Given the description of an element on the screen output the (x, y) to click on. 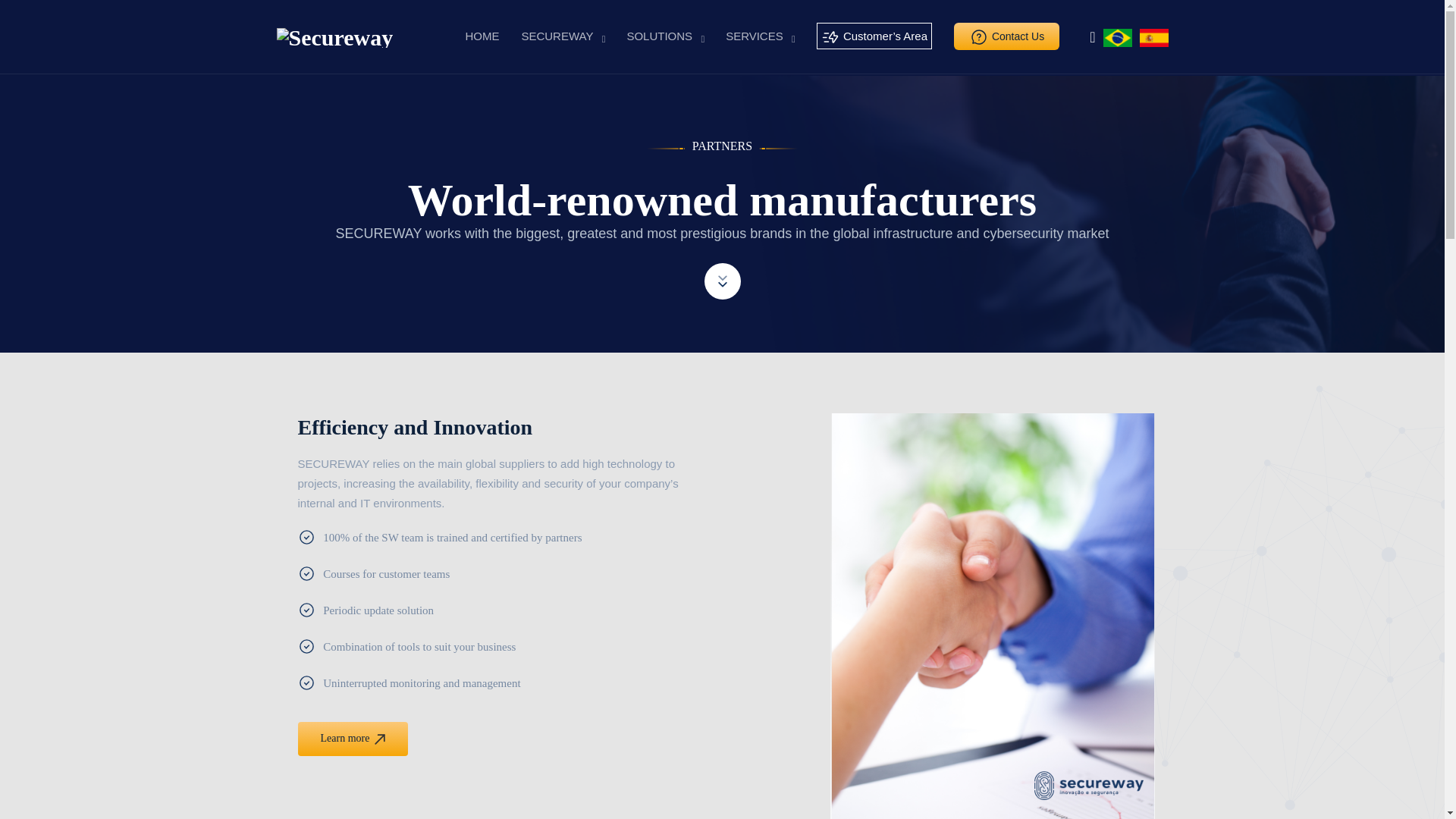
HOME (481, 35)
Learn more (352, 738)
SECUREWAY (556, 35)
SERVICES (754, 35)
Contact Us (1006, 35)
SOLUTIONS (659, 35)
